Given the description of an element on the screen output the (x, y) to click on. 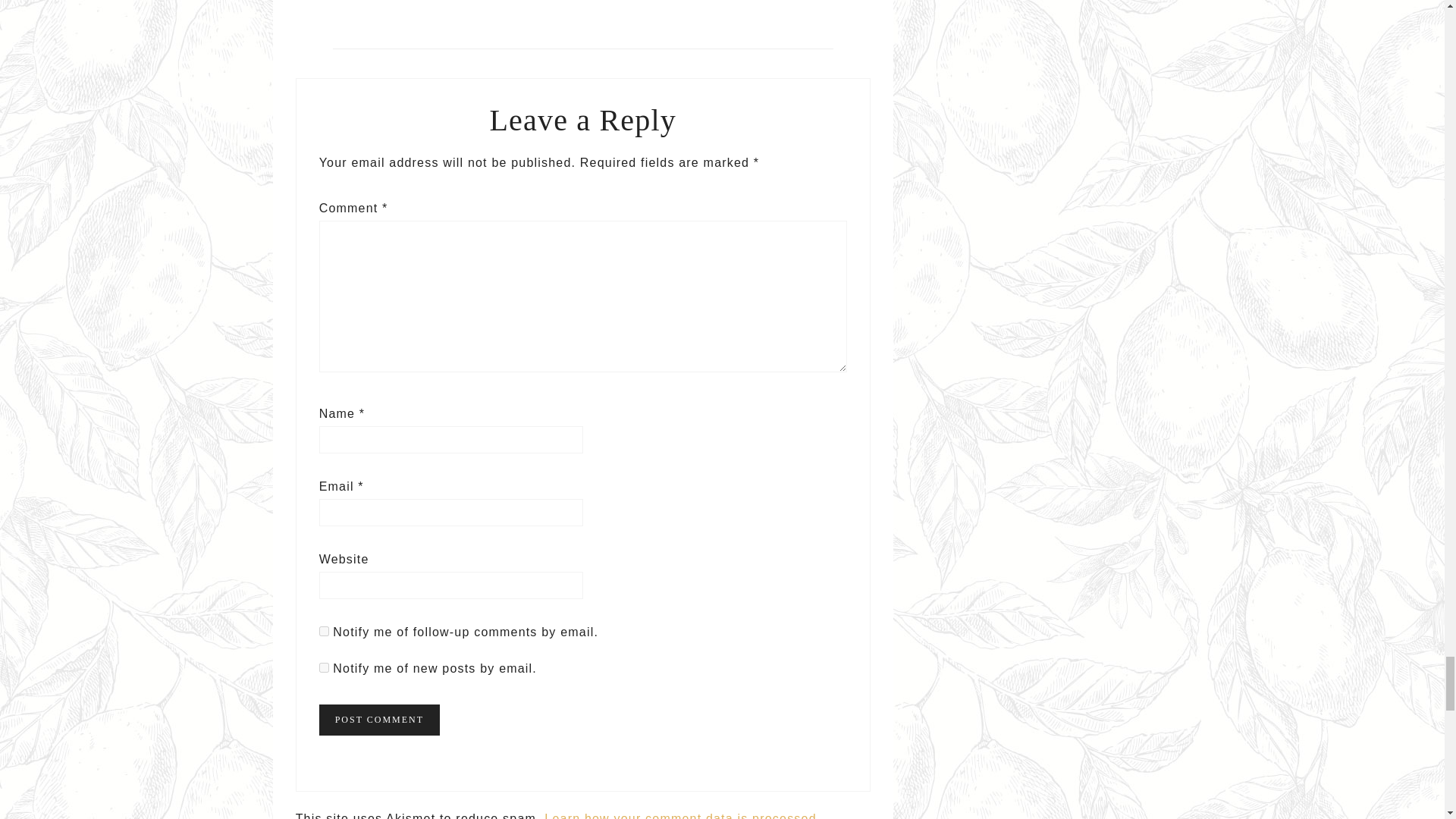
Post Comment (378, 719)
subscribe (323, 667)
subscribe (323, 631)
